Given the description of an element on the screen output the (x, y) to click on. 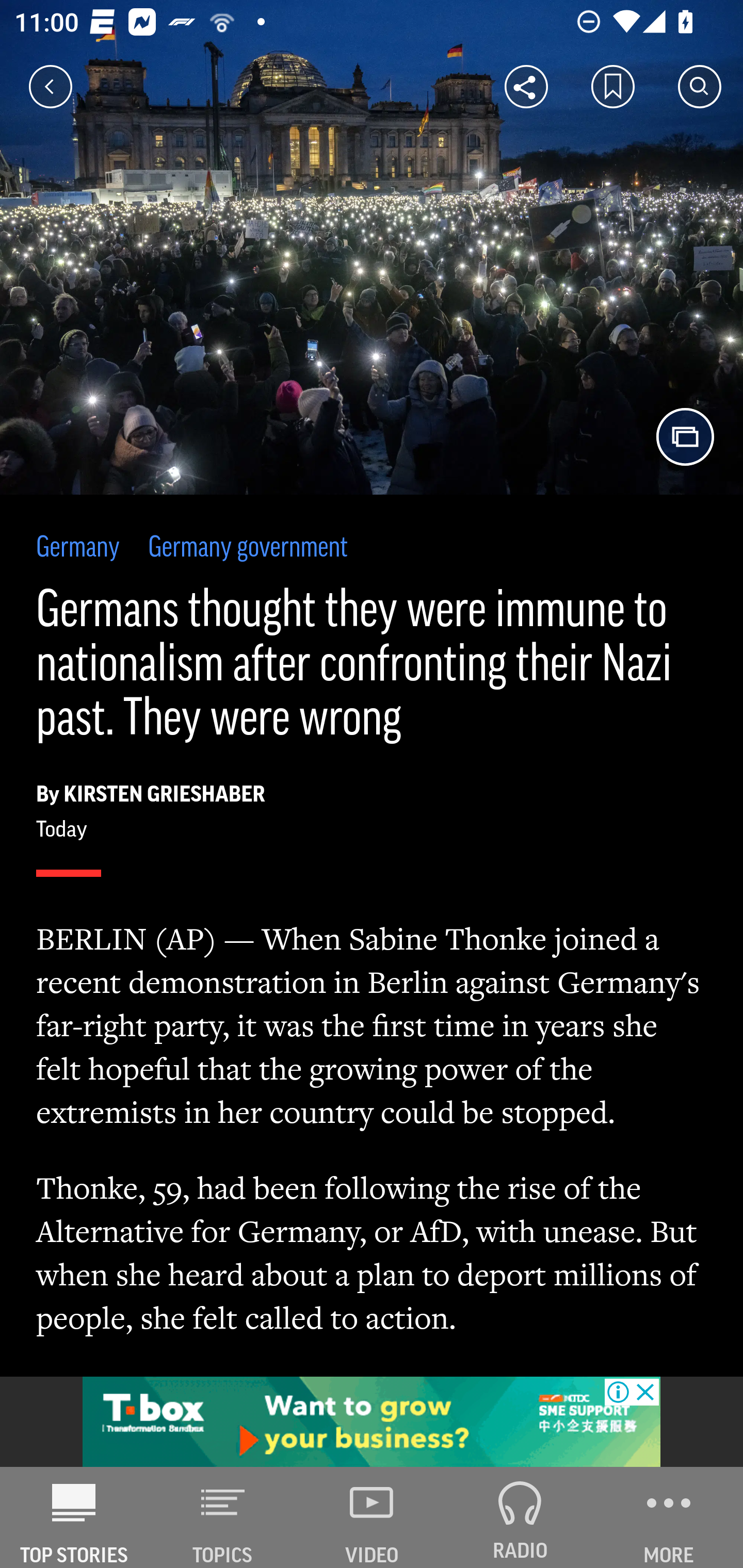
Germany (78, 548)
Germany government (247, 548)
tbox%3FDCSext (371, 1421)
AP News TOP STORIES (74, 1517)
TOPICS (222, 1517)
VIDEO (371, 1517)
RADIO (519, 1517)
MORE (668, 1517)
